Given the description of an element on the screen output the (x, y) to click on. 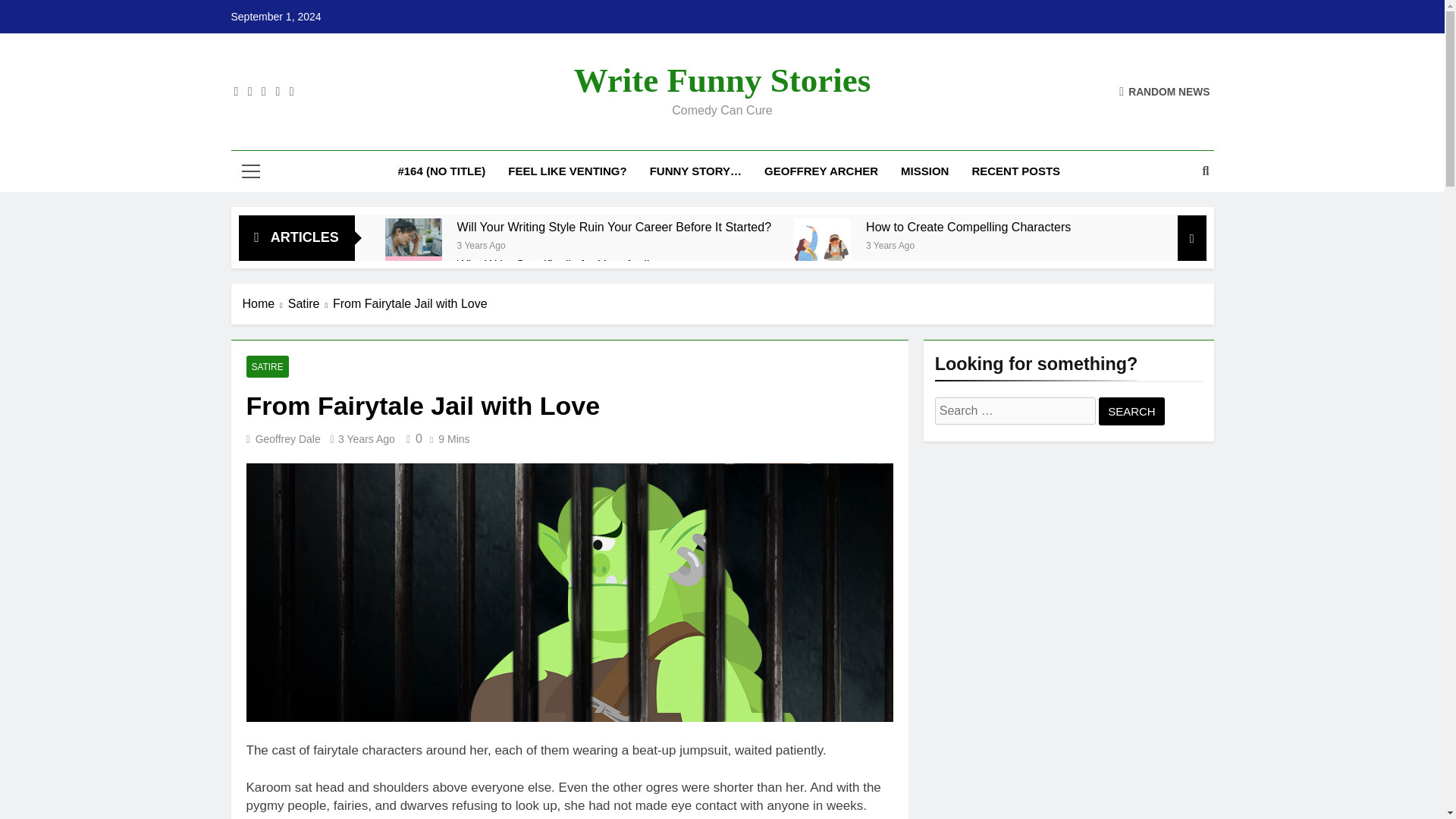
Will Your Writing Style Ruin Your Career Before It Started? (614, 227)
Will Your Writing Style Ruin Your Career Before It Started? (614, 227)
How to Create Compelling Characters (968, 227)
Geoffrey Dale (288, 439)
0 (411, 438)
Why Write Specifically for Your Audience (567, 264)
Satire (310, 303)
Home (265, 303)
3 Years Ago (481, 244)
Write Funny Stories (721, 80)
